Given the description of an element on the screen output the (x, y) to click on. 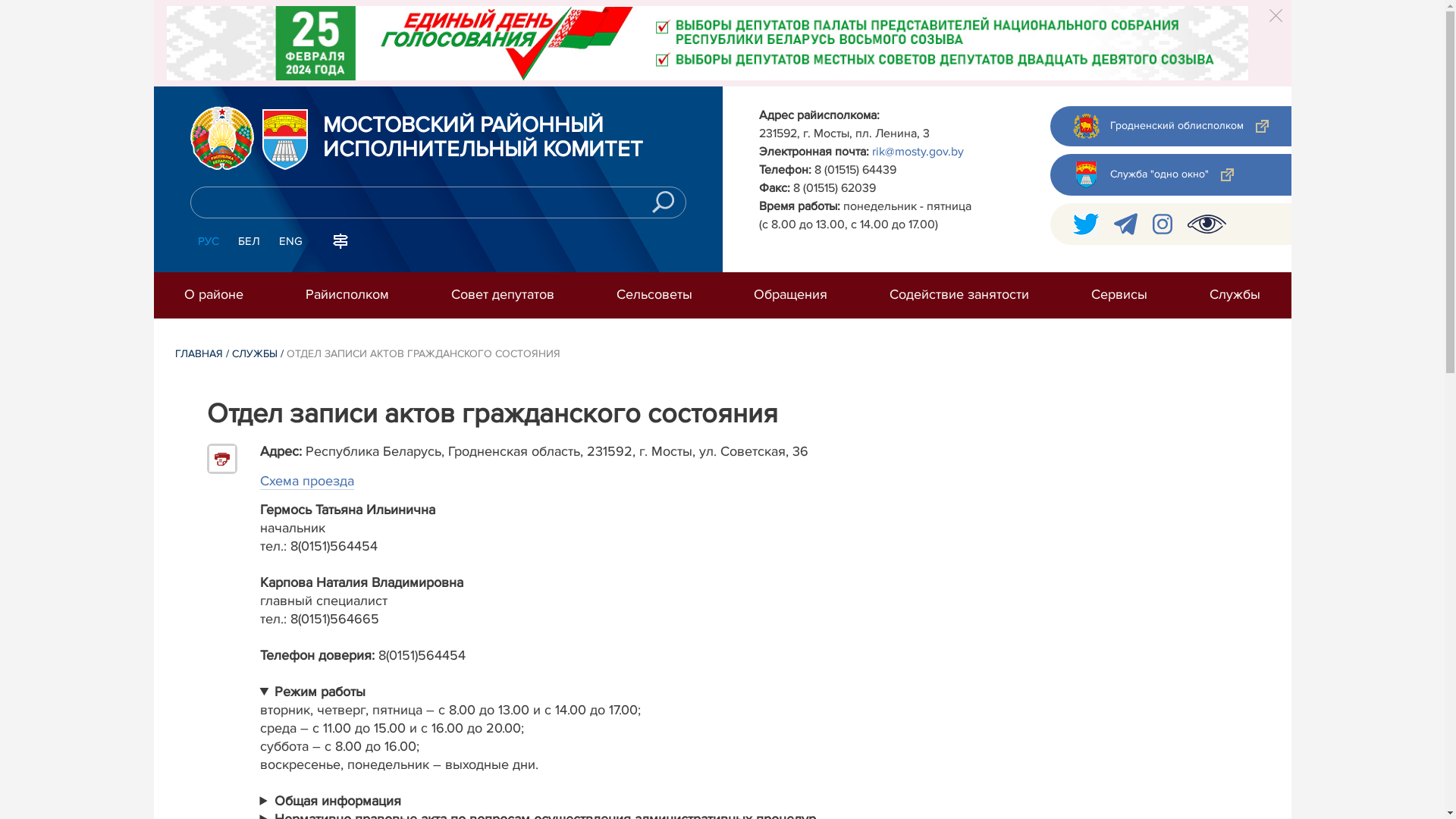
ENG Element type: text (290, 241)
rik@mosty.gov.by Element type: text (917, 151)
Twitter Element type: hover (1085, 223)
telegram Element type: hover (1124, 224)
instagram Element type: hover (1162, 224)
